Given the description of an element on the screen output the (x, y) to click on. 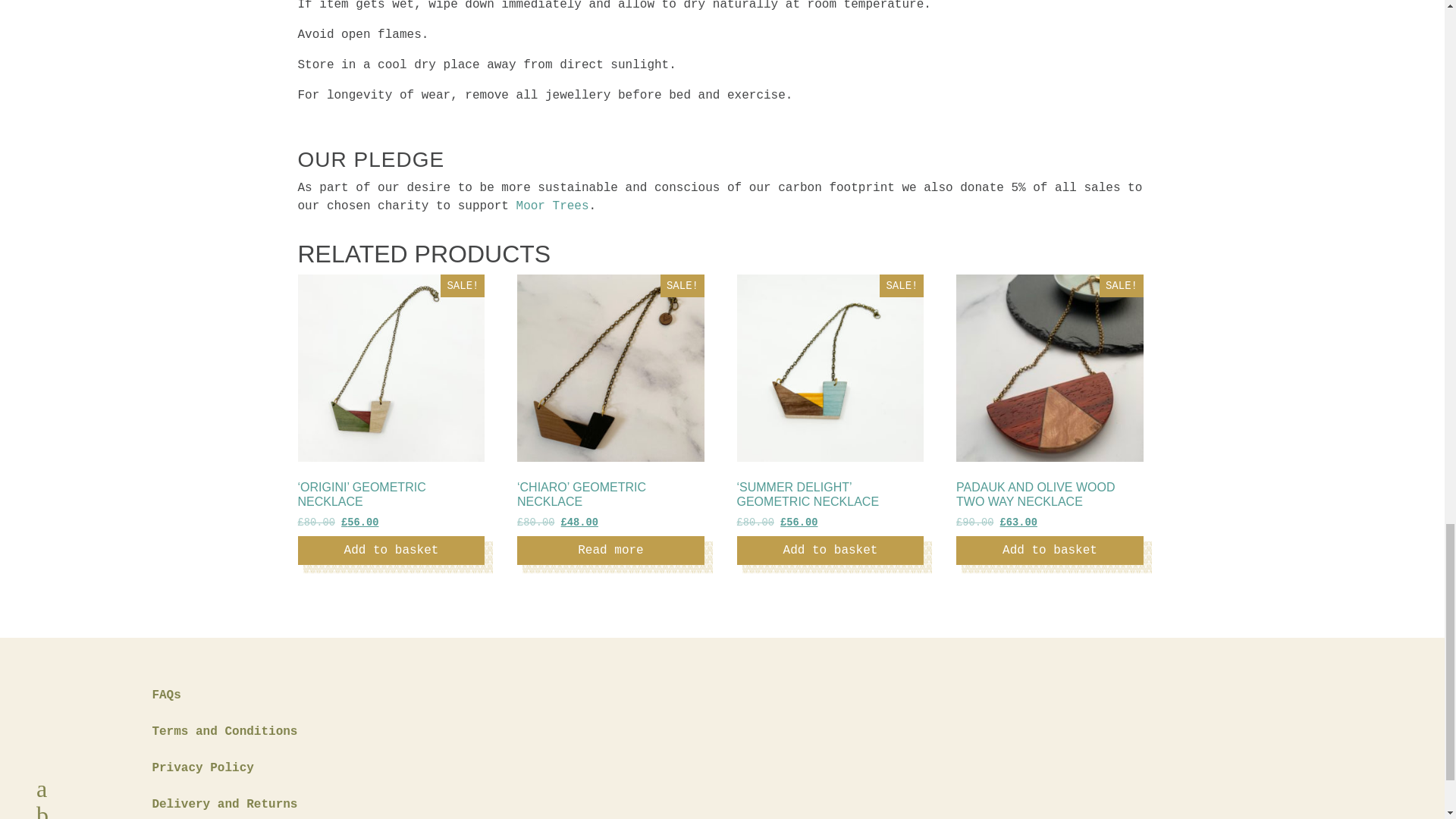
Add to basket (390, 550)
Add to basket (830, 550)
Add to basket (1049, 550)
FAQs (165, 695)
Moor Trees (552, 205)
Privacy Policy (202, 768)
Read more (610, 550)
Delivery and Returns (224, 804)
Terms and Conditions (224, 731)
